Given the description of an element on the screen output the (x, y) to click on. 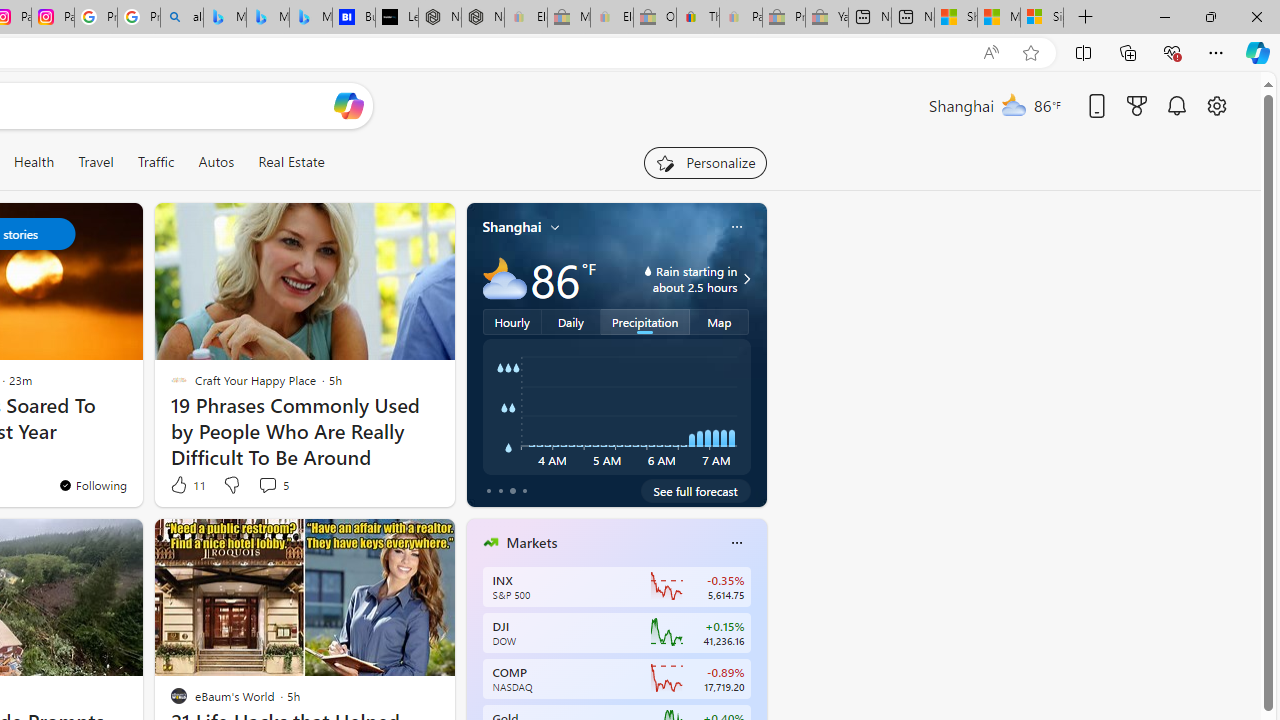
You're following The Weather Channel (92, 485)
Travel (95, 162)
Payments Terms of Use | eBay.com - Sleeping (740, 17)
Hourly (511, 321)
Travel (95, 161)
Map (719, 321)
Shanghai (511, 227)
tab-3 (524, 490)
Traffic (155, 161)
Real Estate (290, 162)
Daily (571, 321)
Microsoft Bing Travel - Flights from Hong Kong to Bangkok (224, 17)
